Given the description of an element on the screen output the (x, y) to click on. 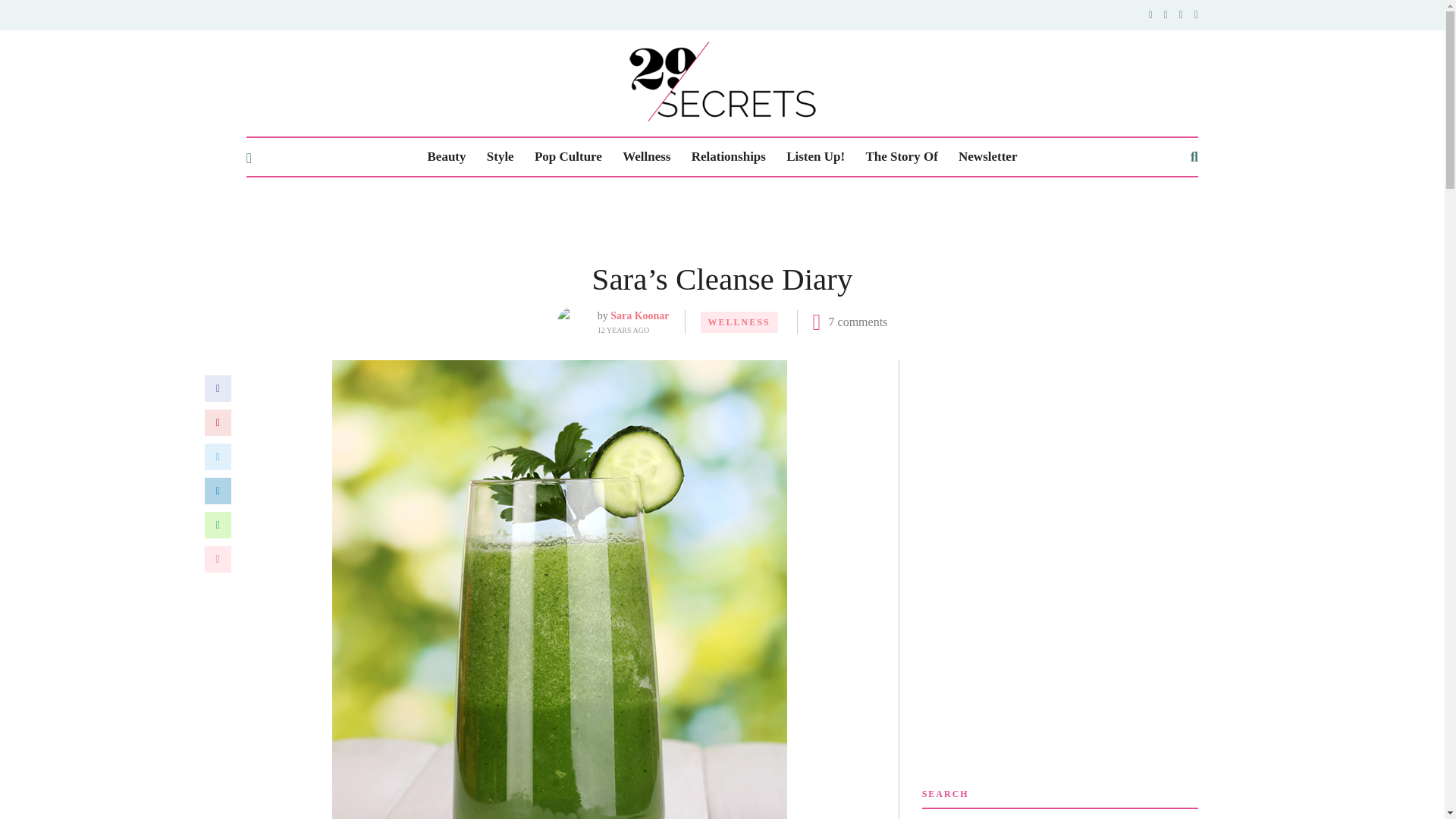
Newsletter (987, 157)
Relationships (728, 157)
WELLNESS (738, 322)
29Secrets (721, 81)
Sara Koonar (639, 315)
Pop Culture (568, 157)
Wellness (646, 157)
The Story Of (900, 157)
Listen Up! (815, 157)
7 comments (858, 321)
